Given the description of an element on the screen output the (x, y) to click on. 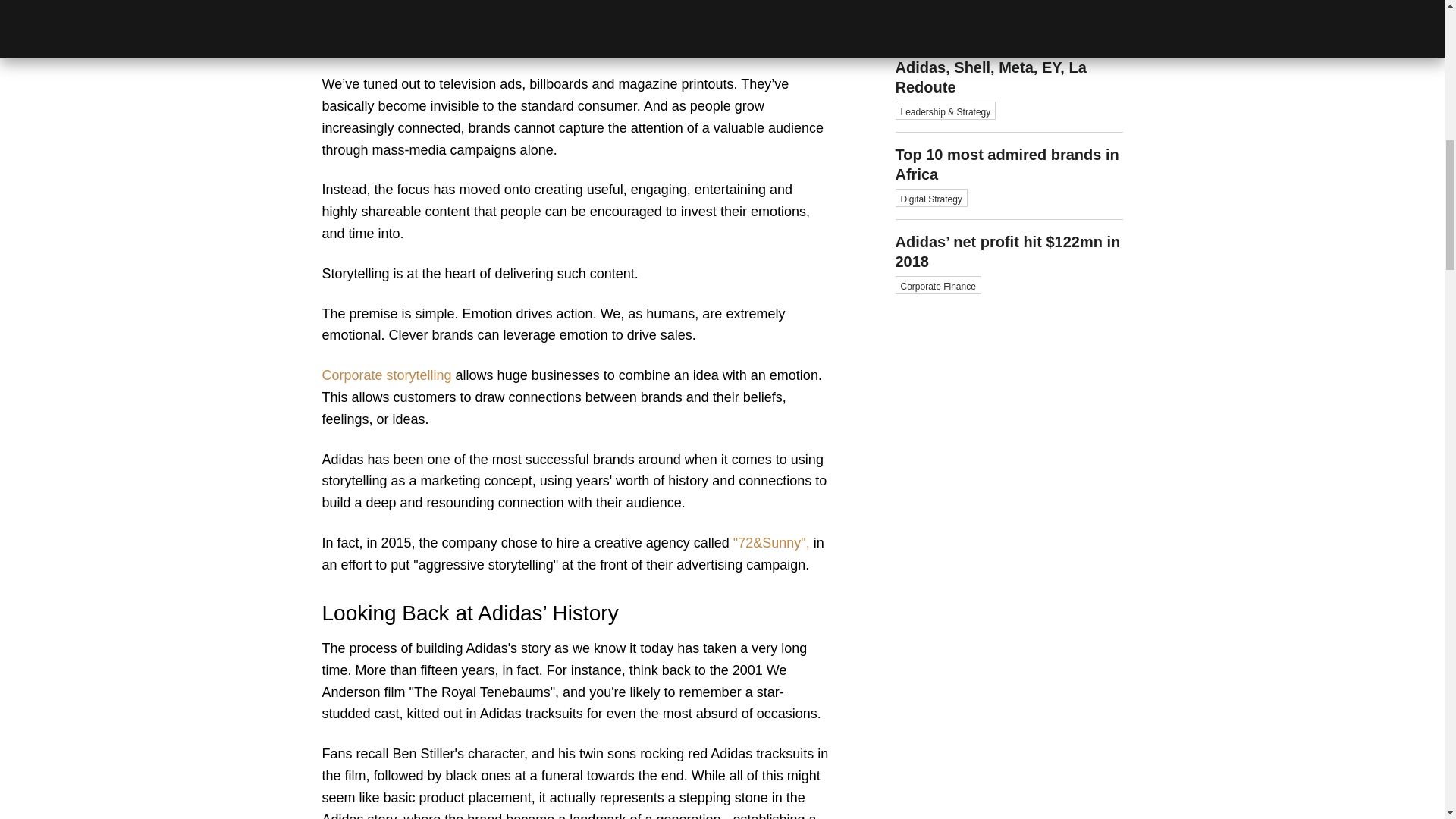
Corporate storytelling (1008, 176)
